Given the description of an element on the screen output the (x, y) to click on. 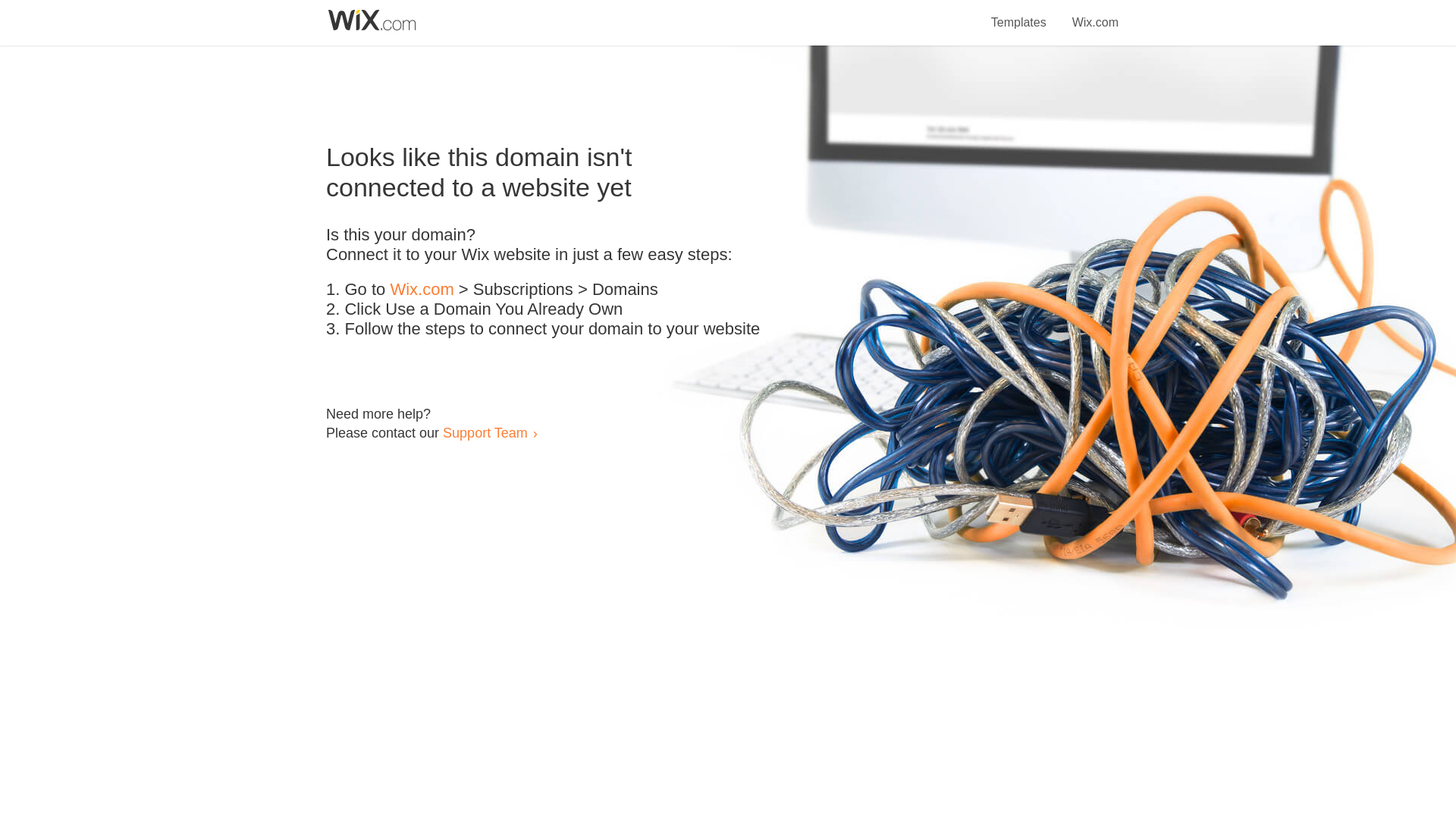
Support Team (484, 432)
Wix.com (421, 289)
Templates (1018, 14)
Wix.com (1095, 14)
